Given the description of an element on the screen output the (x, y) to click on. 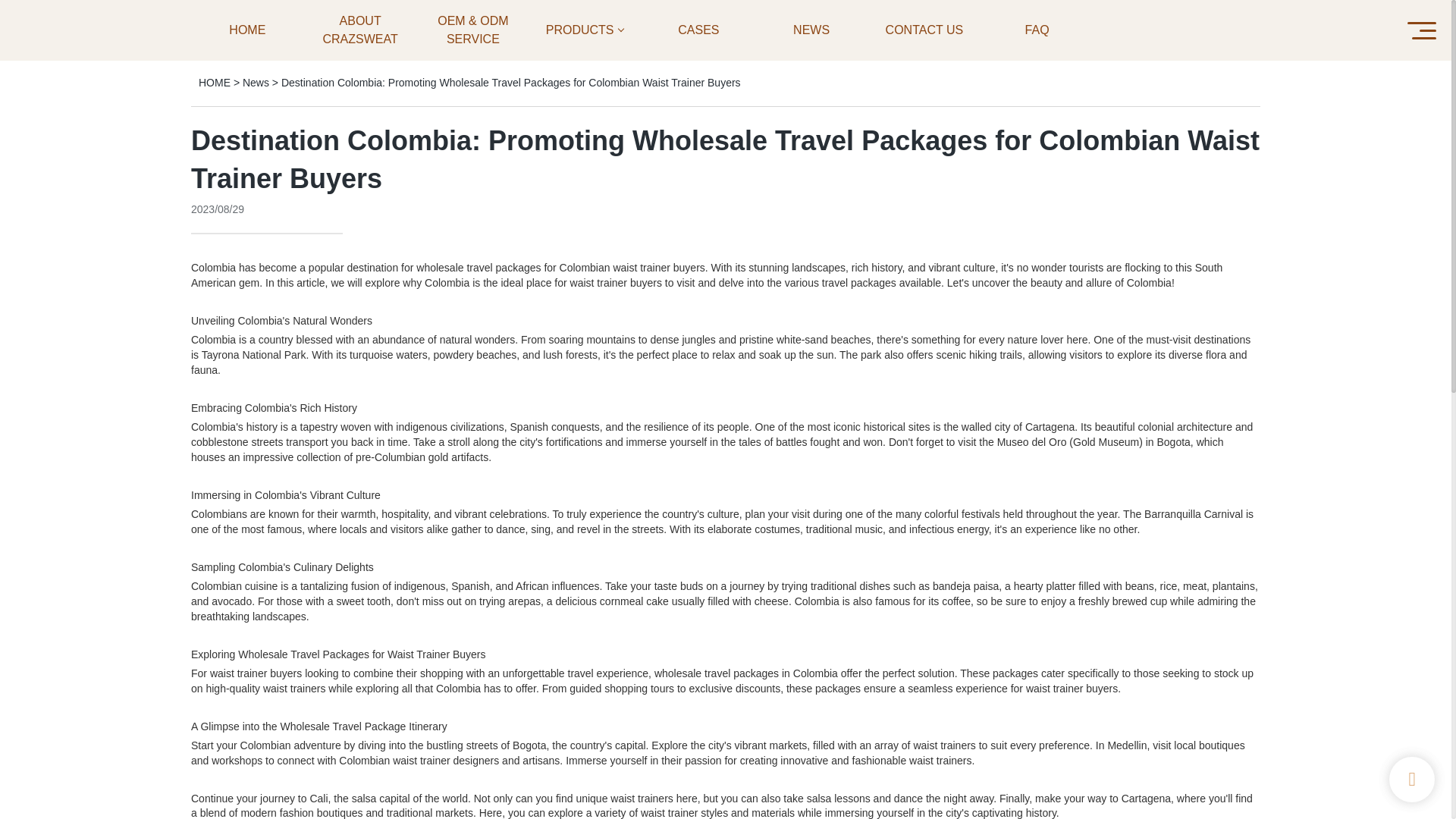
ABOUT CRAZSWEAT (359, 30)
News (256, 82)
CONTACT US (923, 30)
NEWS (811, 30)
HOME (214, 82)
HOME (247, 30)
FAQ (1036, 30)
CASES (698, 30)
PRODUCTS (585, 30)
